Given the description of an element on the screen output the (x, y) to click on. 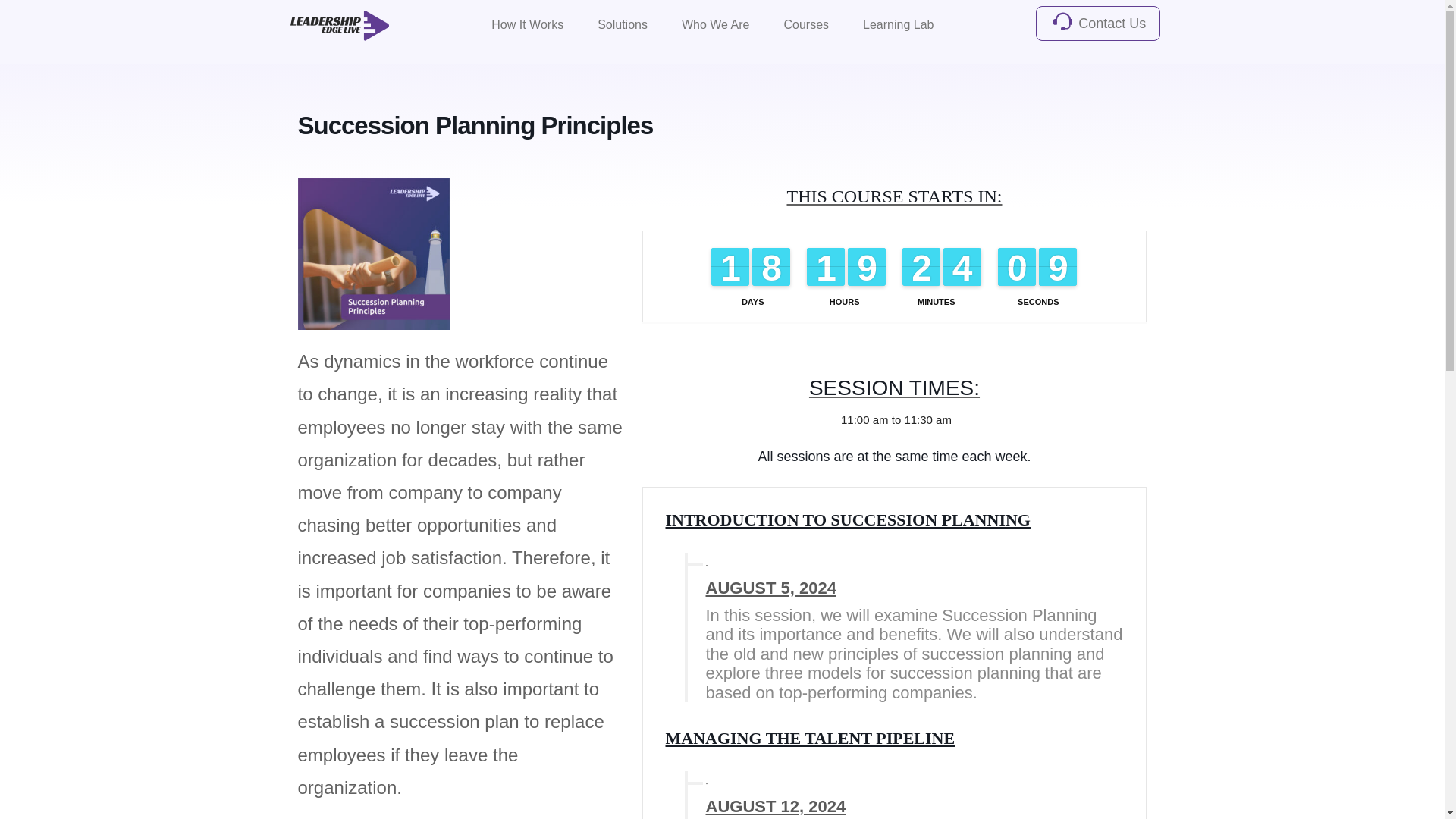
Solutions (622, 24)
1 (1016, 266)
How It Works (527, 24)
5 (921, 266)
Who We Are (866, 266)
0 (962, 266)
Courses (730, 266)
Learning Lab (771, 266)
Contact Us (715, 24)
